Given the description of an element on the screen output the (x, y) to click on. 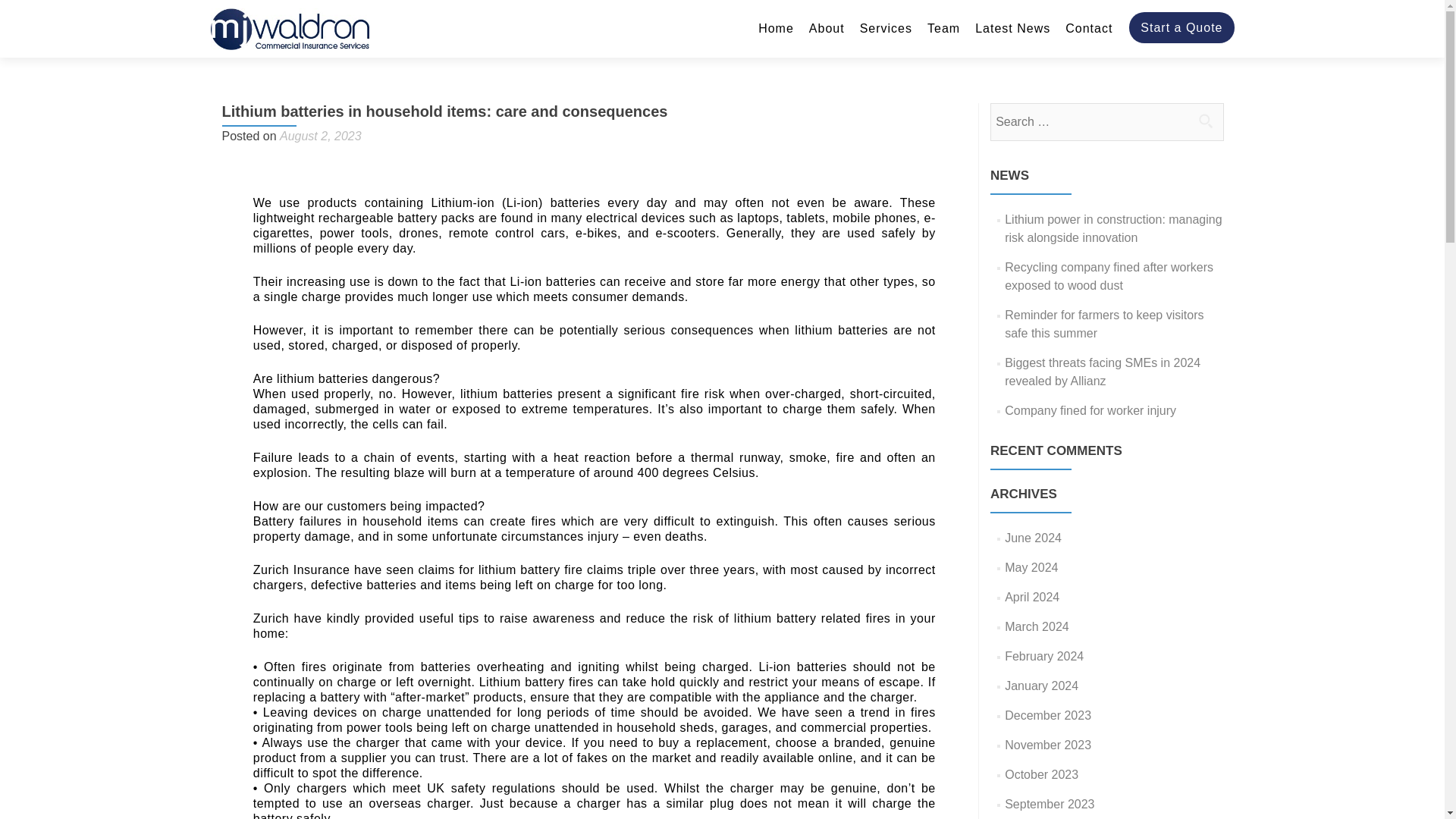
Reminder for farmers to keep visitors safe this summer (1104, 323)
Services (886, 28)
November 2023 (1047, 744)
Search (1205, 120)
June 2024 (1032, 537)
October 2023 (1041, 774)
Search (1205, 120)
December 2023 (1047, 715)
September 2023 (1049, 803)
Start a Quote (1181, 27)
March 2024 (1036, 626)
May 2024 (1031, 567)
January 2024 (1041, 685)
Search (1205, 120)
